Given the description of an element on the screen output the (x, y) to click on. 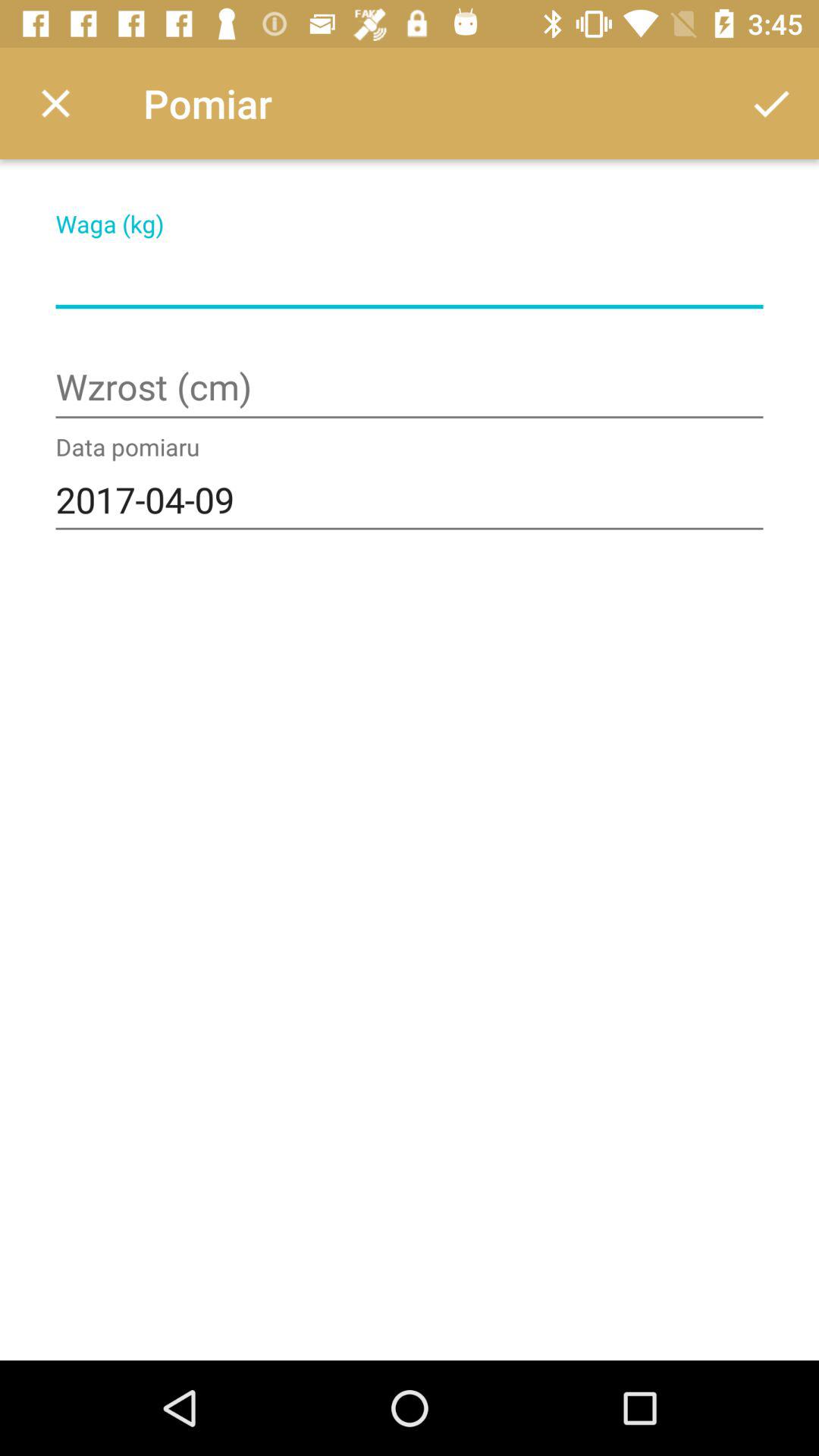
write down (409, 277)
